Given the description of an element on the screen output the (x, y) to click on. 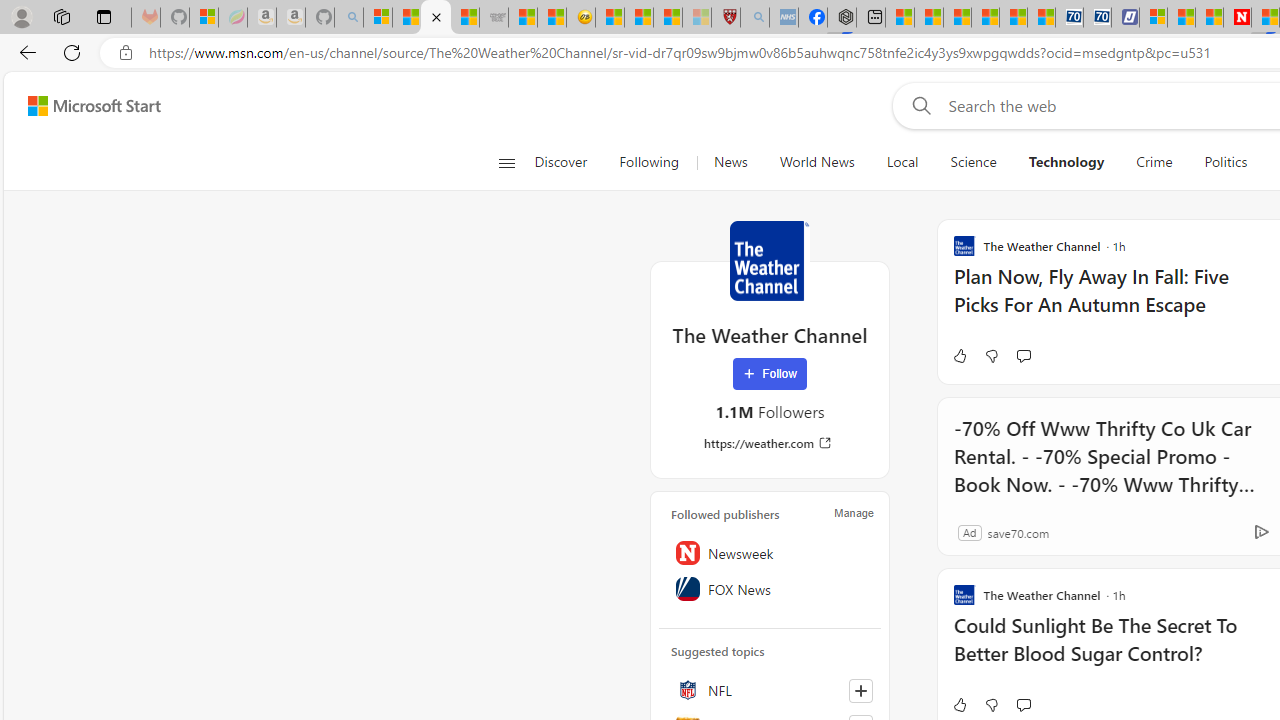
The Weather Channel (769, 260)
